Given the description of an element on the screen output the (x, y) to click on. 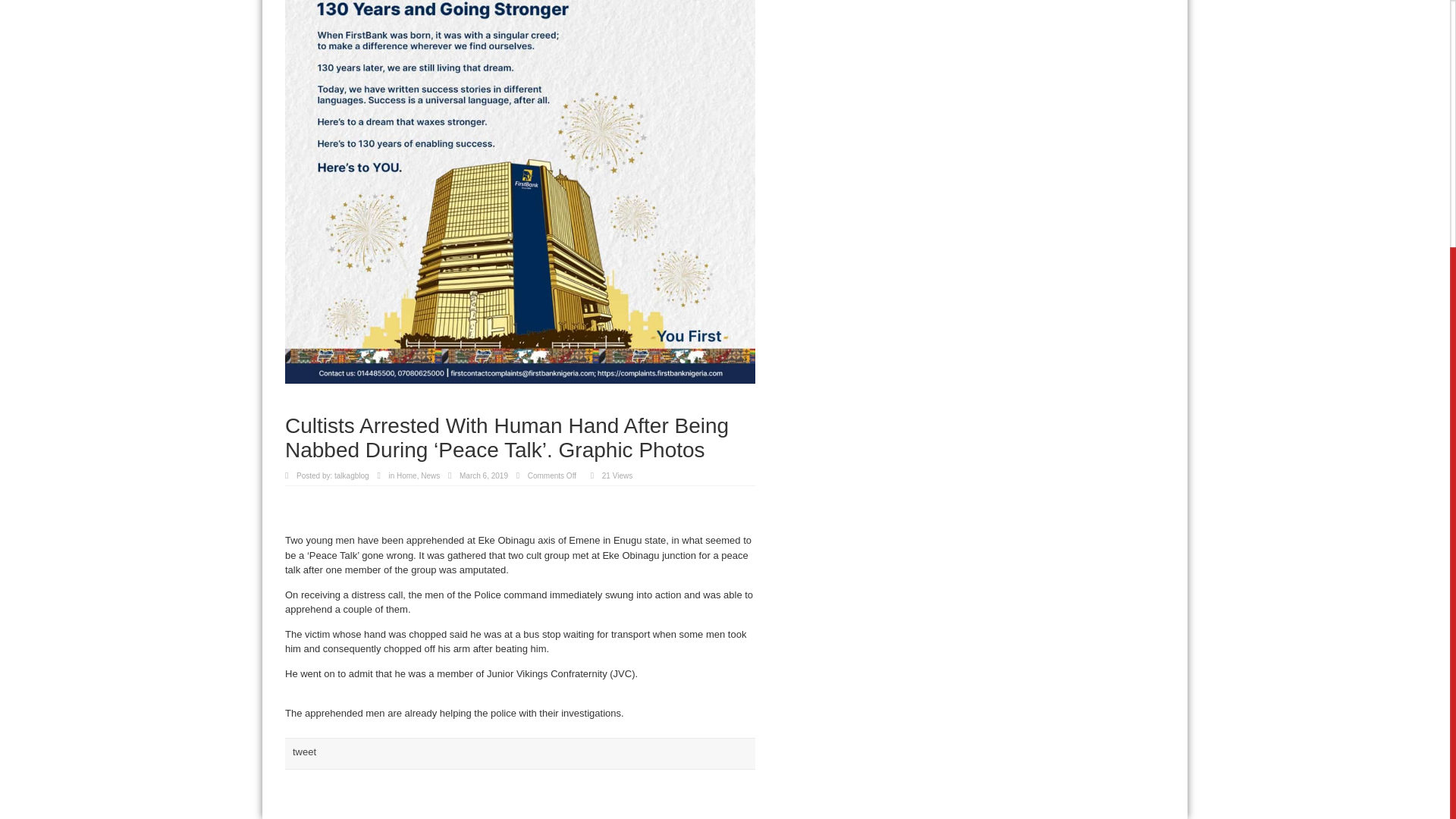
tweet (303, 751)
Home (406, 475)
News (429, 475)
